Given the description of an element on the screen output the (x, y) to click on. 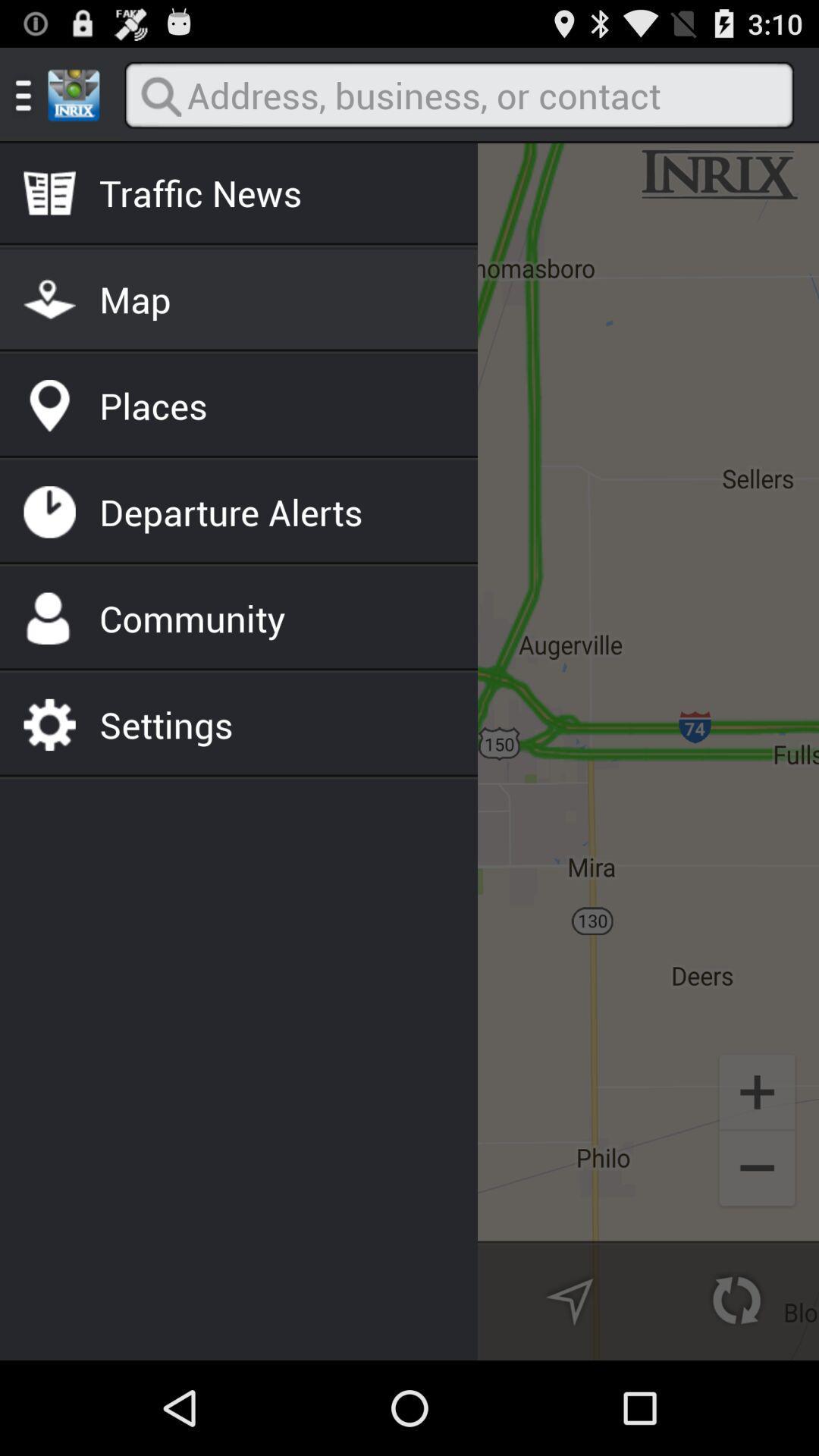
tap departure alerts (230, 511)
